Given the description of an element on the screen output the (x, y) to click on. 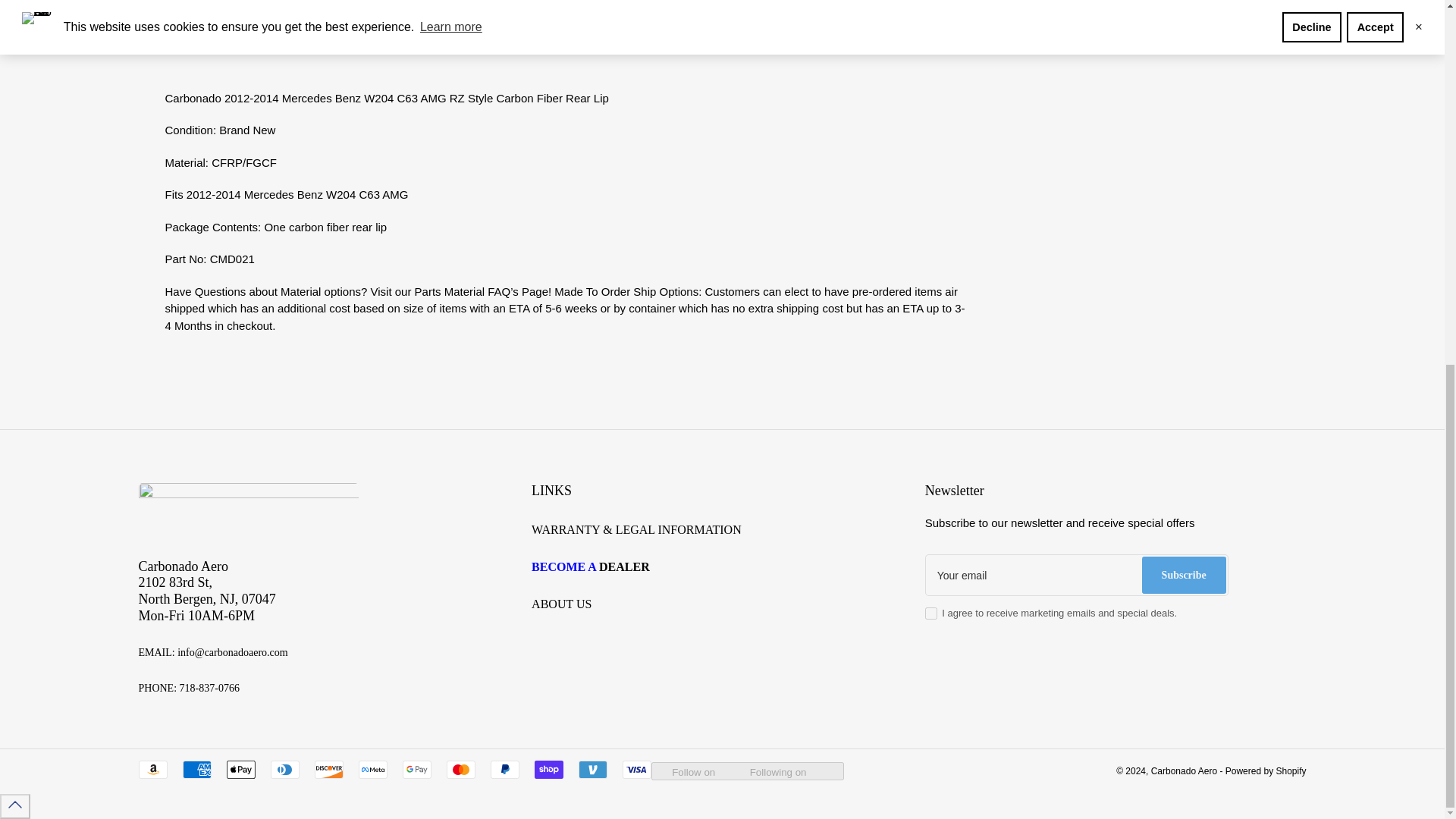
About Us (561, 603)
American Express (196, 769)
Apple Pay (239, 769)
Meta Pay (372, 769)
Diners Club (283, 769)
Contacts (623, 566)
Shop Pay (548, 769)
PayPal (503, 769)
Mastercard (459, 769)
on (930, 613)
Discover (328, 769)
Google Pay (415, 769)
Amazon (152, 769)
